Given the description of an element on the screen output the (x, y) to click on. 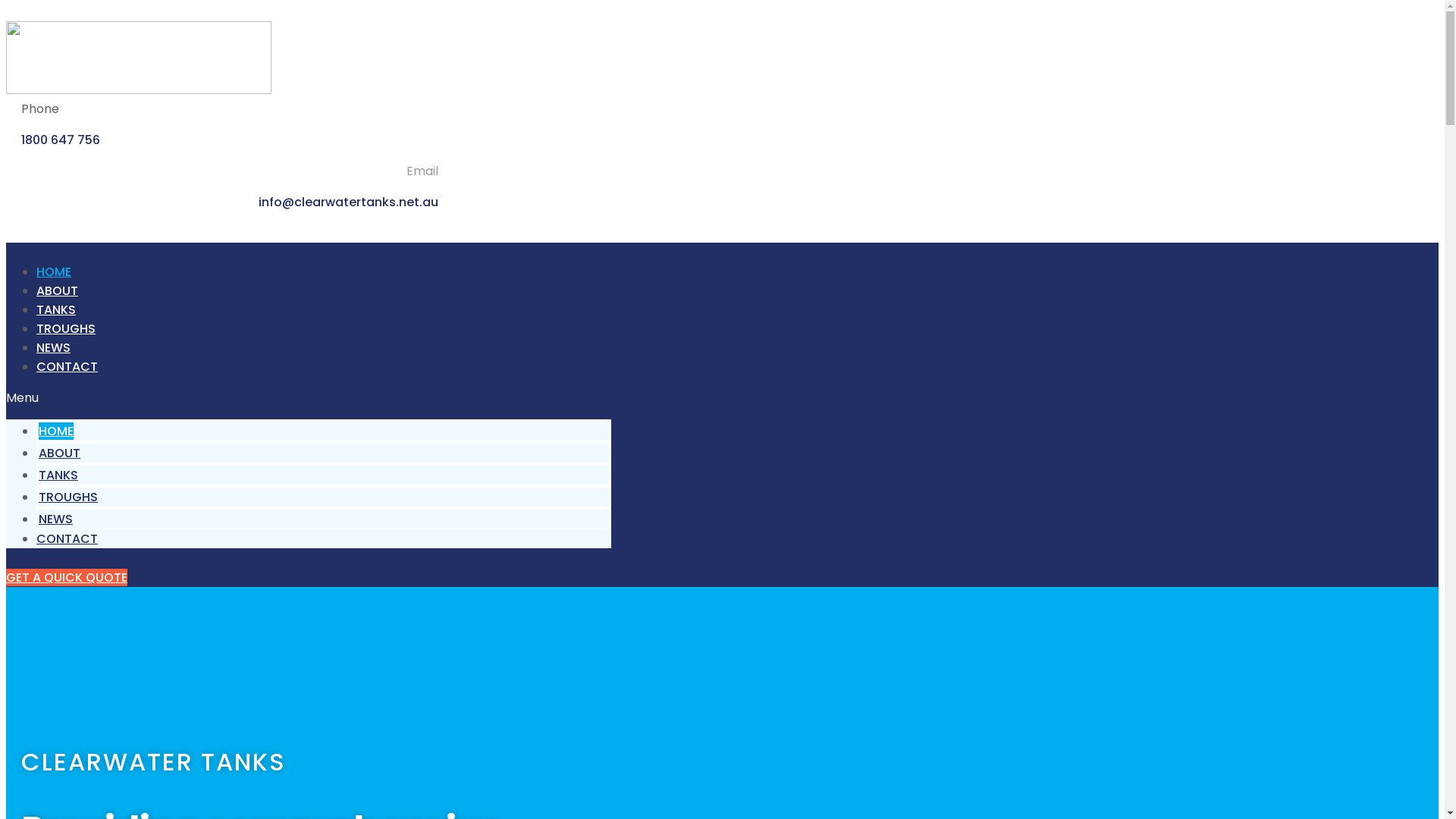
ABOUT Element type: text (57, 290)
ABOUT Element type: text (59, 452)
NEWS Element type: text (53, 347)
NEWS Element type: text (55, 518)
TROUGHS Element type: text (65, 328)
HOME Element type: text (53, 271)
TROUGHS Element type: text (67, 496)
CONTACT Element type: text (66, 366)
CONTACT Element type: text (66, 538)
HOME Element type: text (55, 430)
TANKS Element type: text (58, 474)
TANKS Element type: text (55, 309)
GET A QUICK QUOTE Element type: text (66, 577)
